Given the description of an element on the screen output the (x, y) to click on. 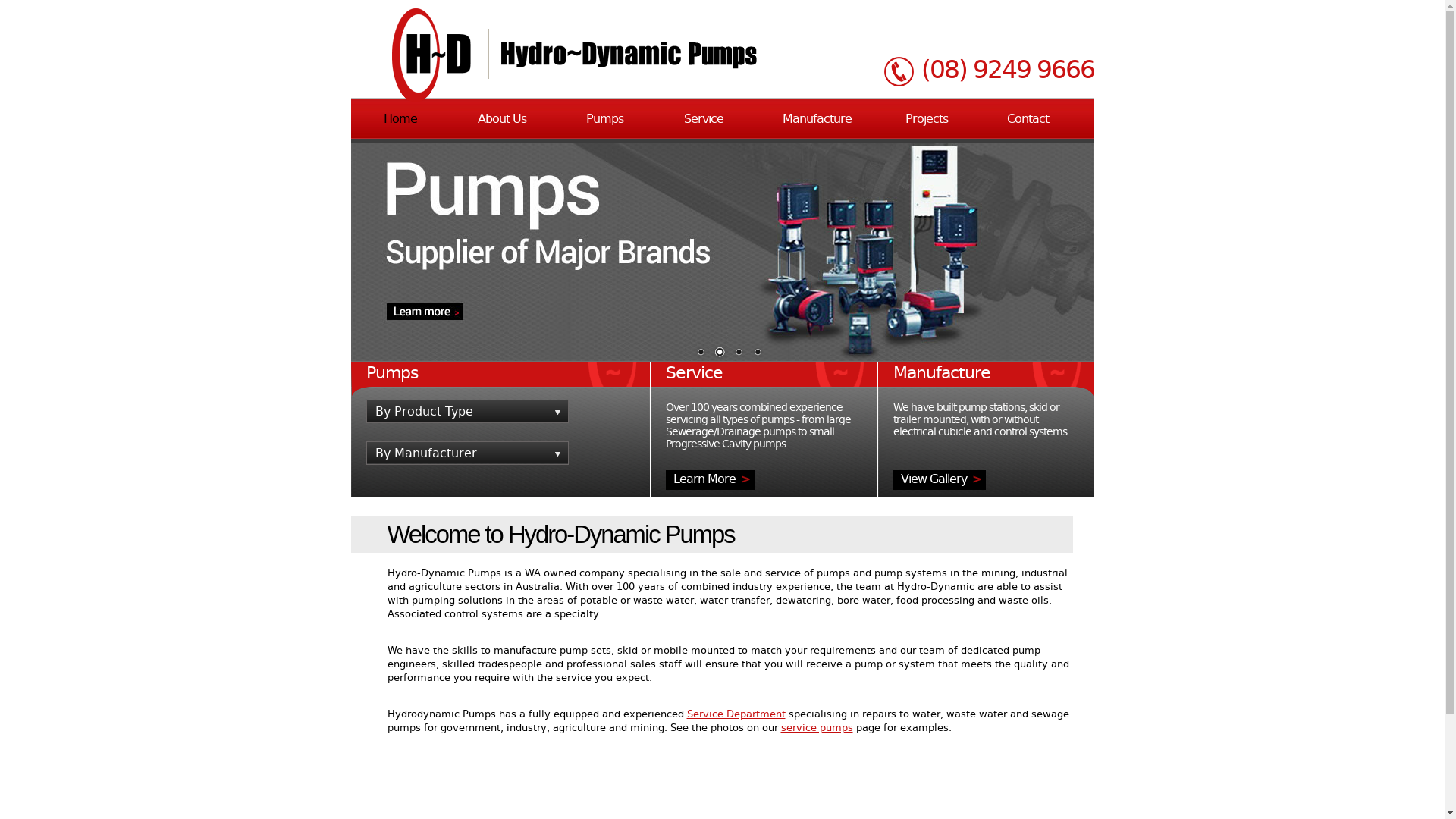
By Product Type Element type: text (466, 411)
3 Element type: text (737, 353)
1 Element type: text (699, 353)
service pumps Element type: text (817, 727)
Service Element type: text (703, 118)
Contact Element type: text (1027, 118)
By Manufacturer Element type: text (466, 452)
View Gallery > Element type: text (939, 479)
Manufacture Element type: text (816, 118)
Pumps Element type: text (603, 118)
Projects Element type: text (926, 118)
2 Element type: text (719, 353)
Service Department Element type: text (736, 713)
About Us Element type: text (501, 118)
4 Element type: text (757, 353)
Home Element type: text (400, 118)
Learn More > Element type: text (709, 479)
